Given the description of an element on the screen output the (x, y) to click on. 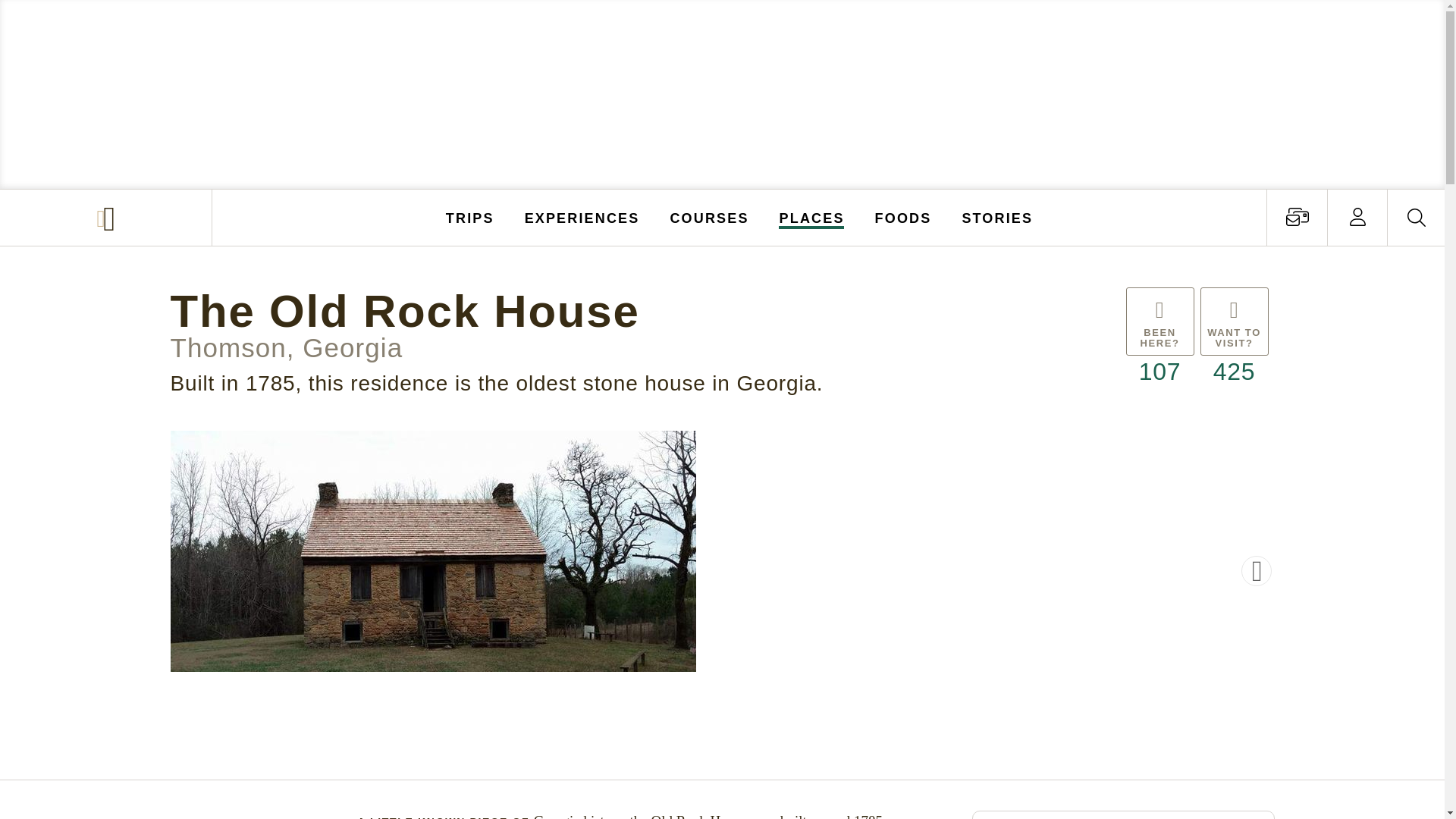
PLACES (812, 217)
COURSES (707, 217)
TRIPS (469, 217)
EXPERIENCES (582, 217)
